Given the description of an element on the screen output the (x, y) to click on. 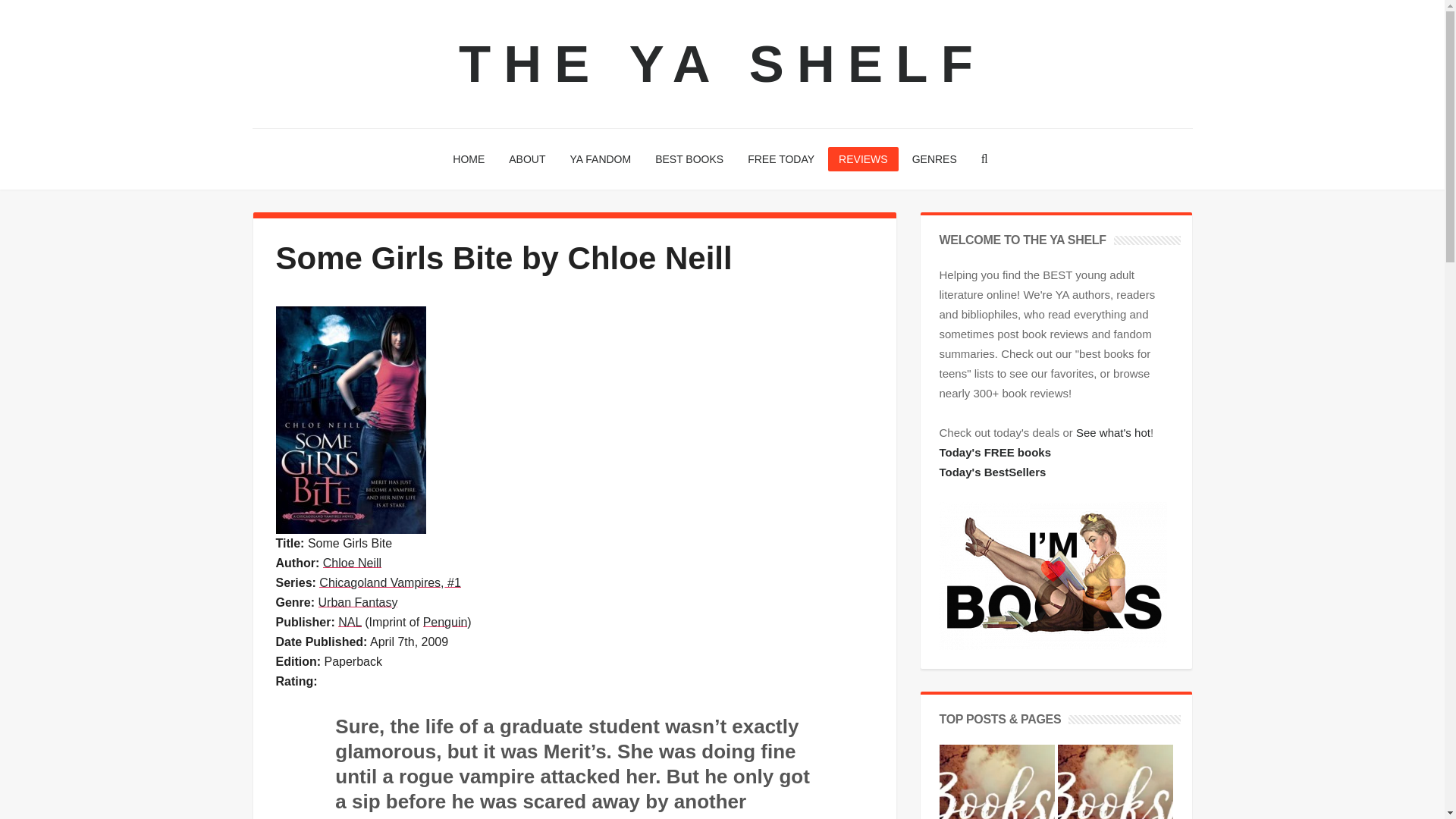
Chicagoland Vampires (389, 582)
Some Girls Bite by Chloe Neill (351, 418)
Urban Fantasy (357, 602)
Penguin (445, 621)
NAL (349, 621)
Chloe Neill (352, 562)
